Given the description of an element on the screen output the (x, y) to click on. 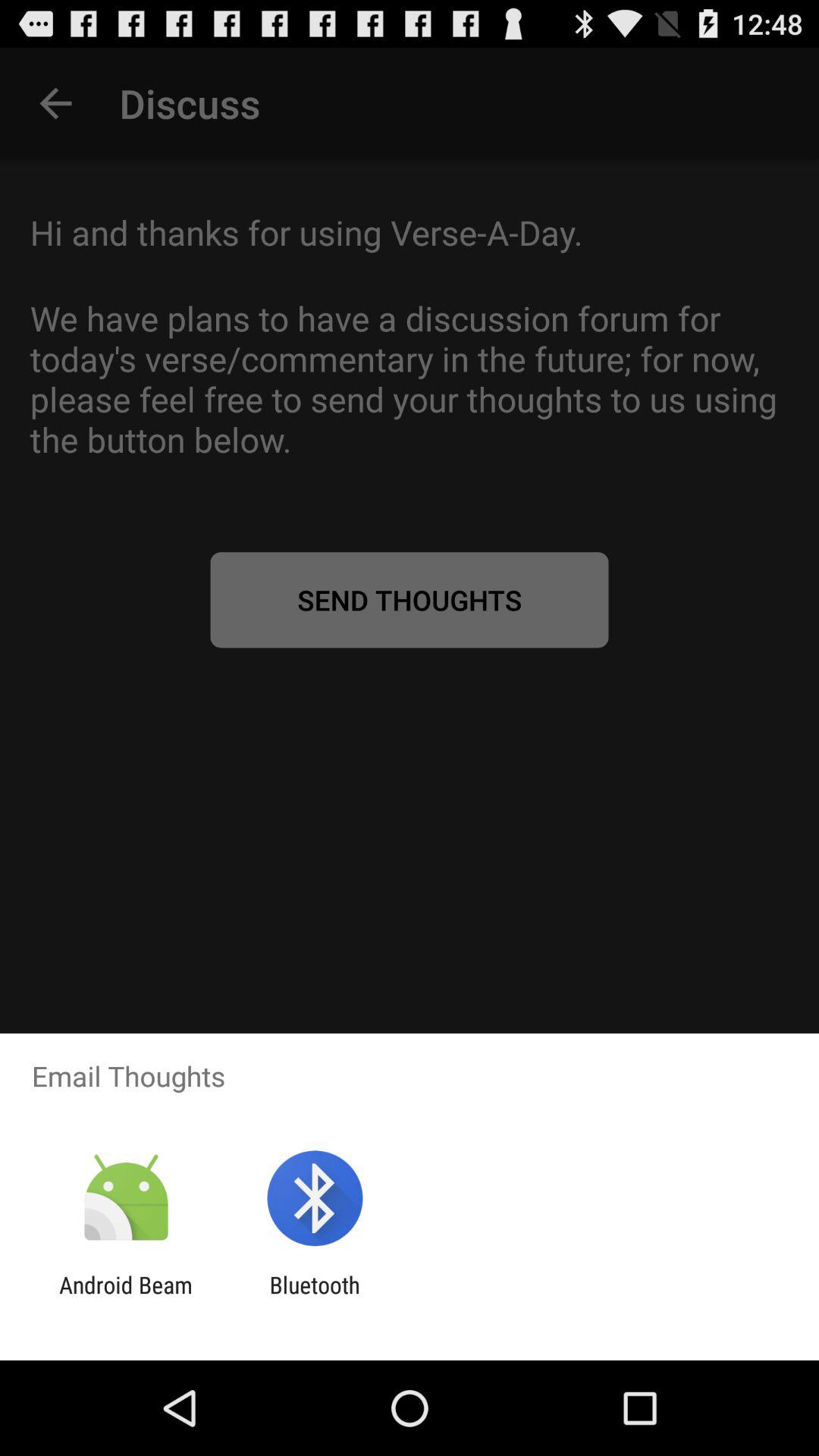
choose app next to android beam icon (314, 1298)
